Given the description of an element on the screen output the (x, y) to click on. 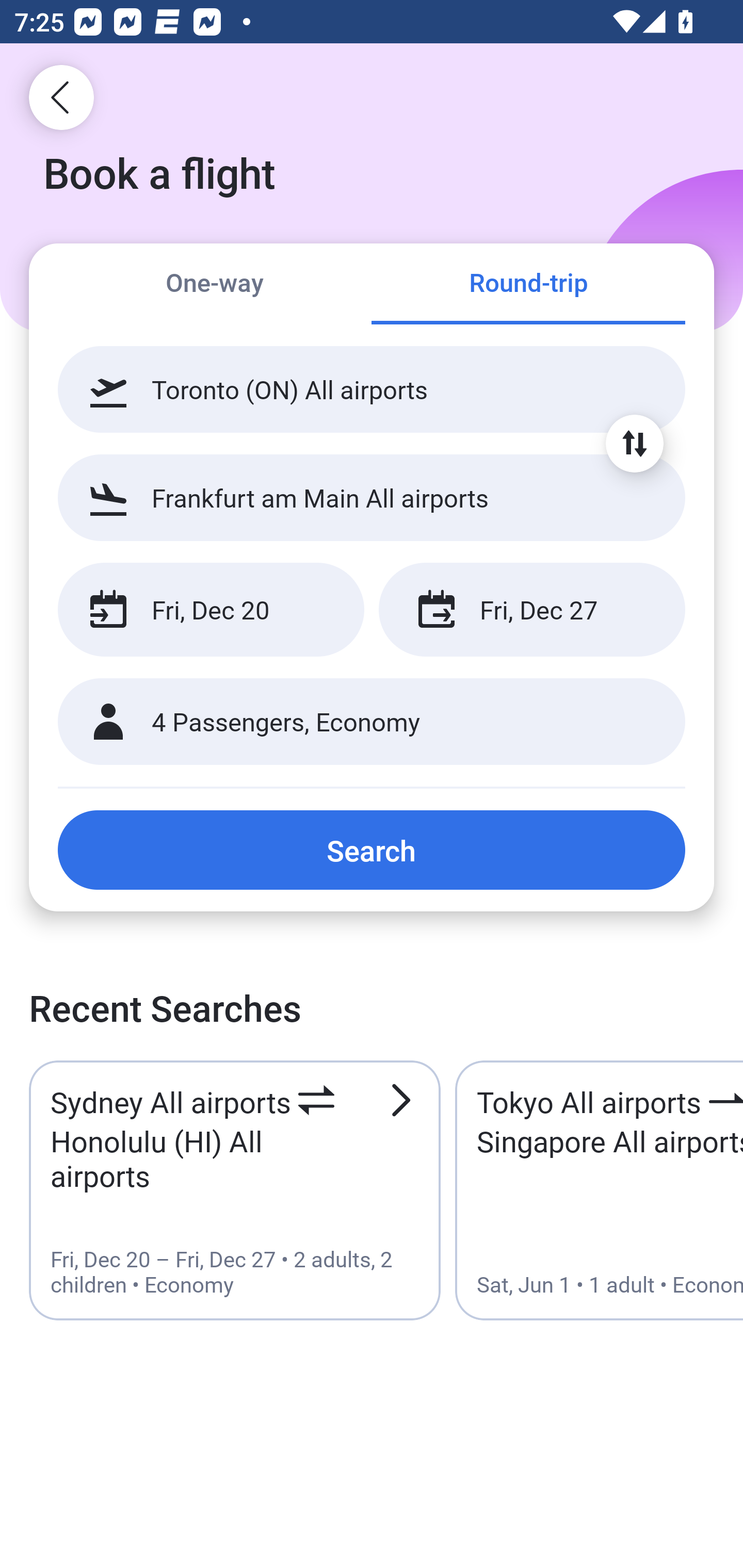
One-way (214, 284)
Toronto (ON) All airports (371, 389)
Frankfurt am Main All airports (371, 497)
Fri, Dec 20 (210, 609)
Fri, Dec 27 (531, 609)
4 Passengers, Economy (371, 721)
Search (371, 849)
